Given the description of an element on the screen output the (x, y) to click on. 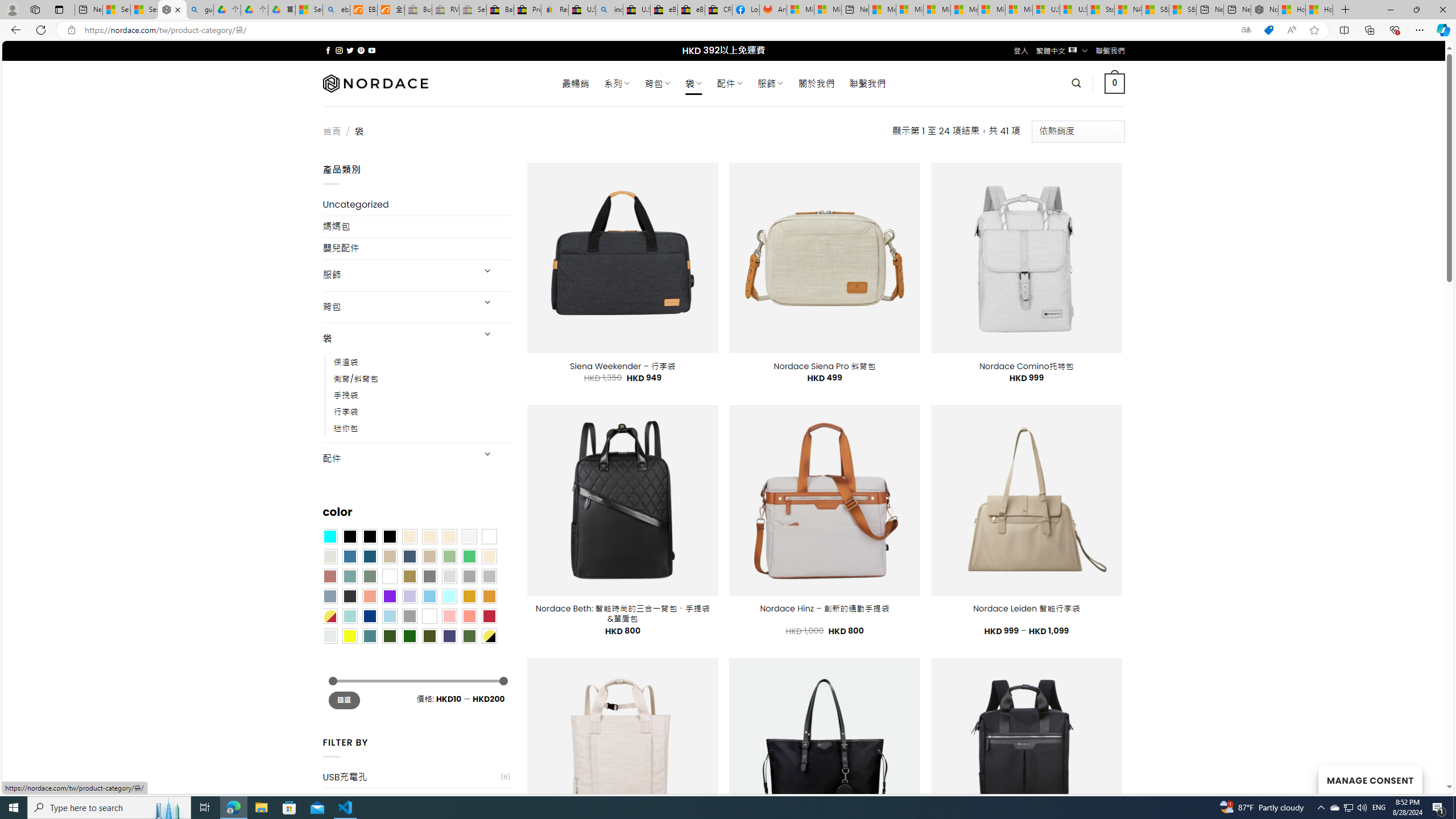
Follow on Instagram (338, 50)
Follow on Facebook (327, 50)
Press Room - eBay Inc. (527, 9)
